Given the description of an element on the screen output the (x, y) to click on. 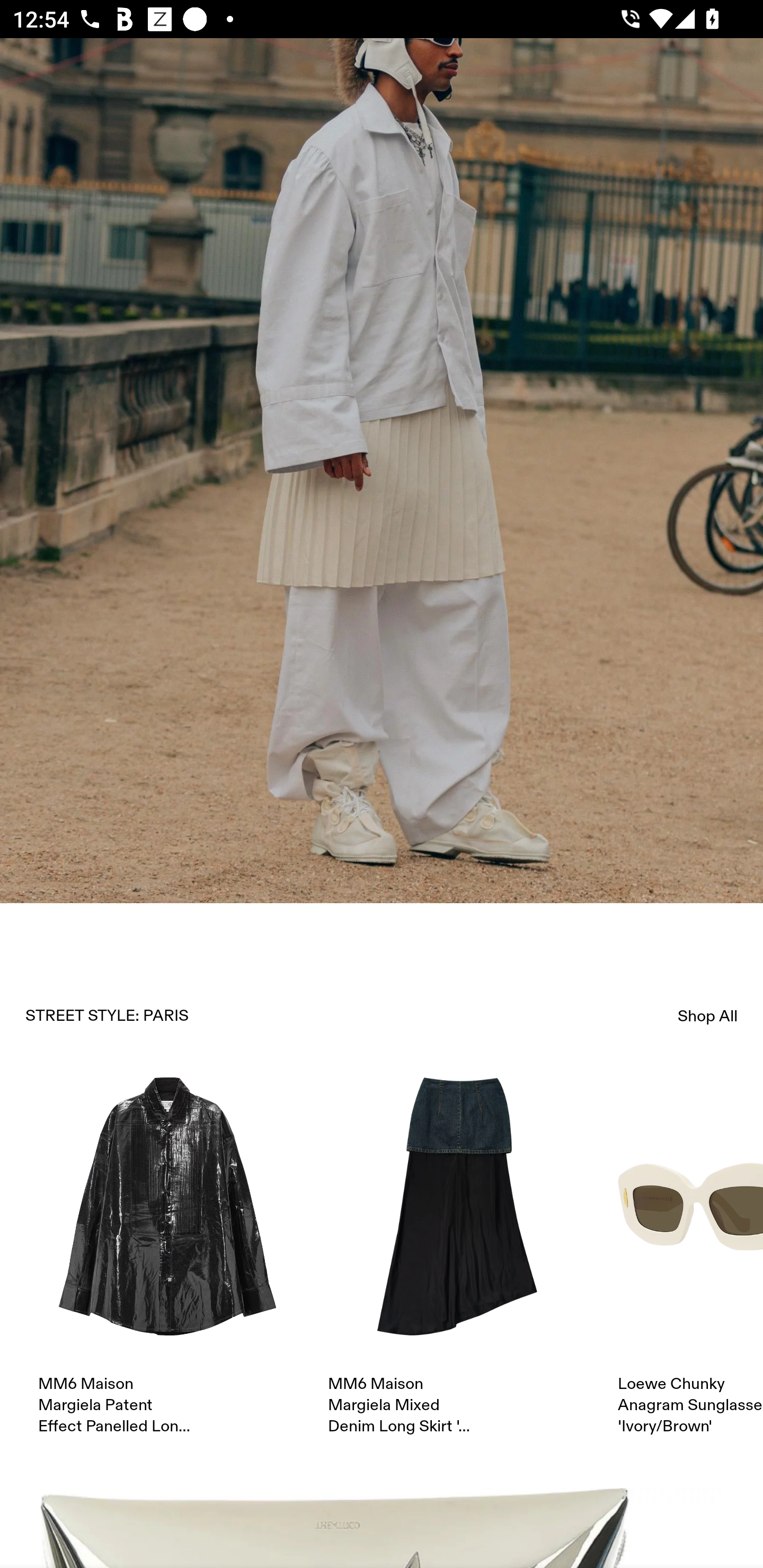
Shop All (707, 1015)
MM6 Maison Margiela Mixed Denim Long Skirt 'Blue' (456, 1257)
Loewe Chunky Anagram Sunglasses 'Ivory/Brown' (690, 1257)
